Given the description of an element on the screen output the (x, y) to click on. 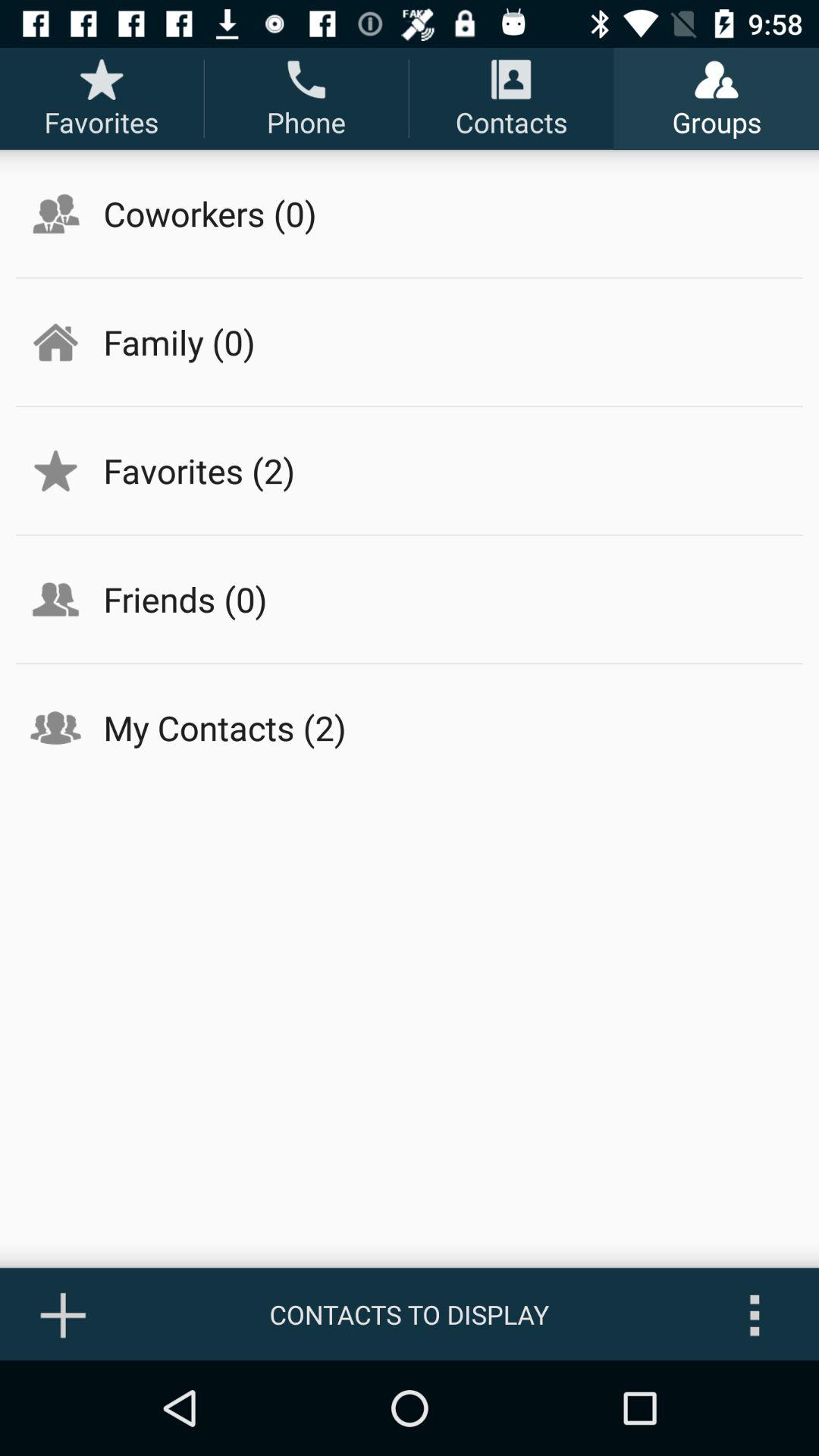
jump until the contacts to display icon (409, 1314)
